Given the description of an element on the screen output the (x, y) to click on. 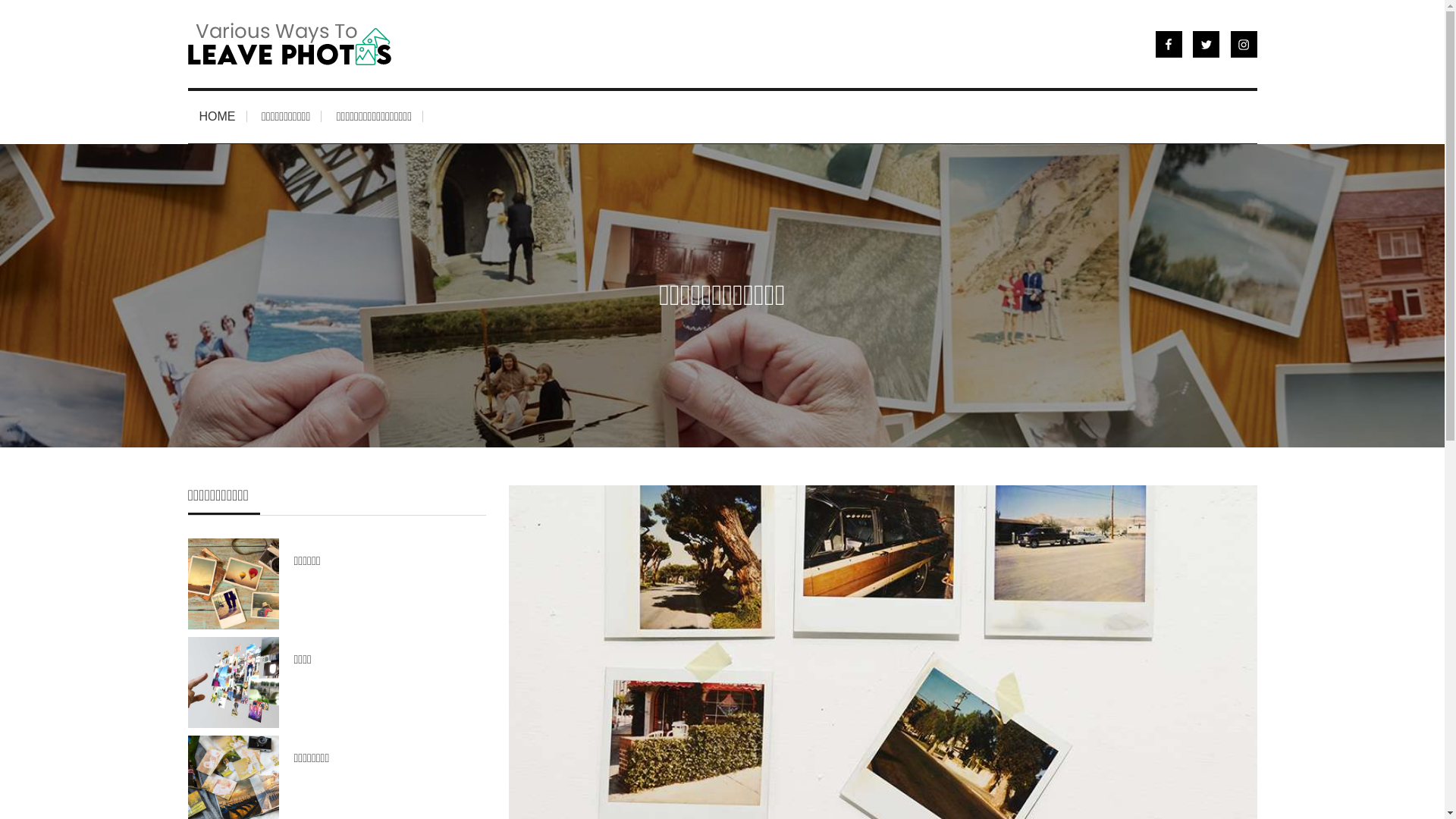
Twitter Element type: text (1205, 43)
Facebook Element type: text (1168, 43)
HOME Element type: text (216, 117)
Instragram Element type: text (1243, 43)
